Given the description of an element on the screen output the (x, y) to click on. 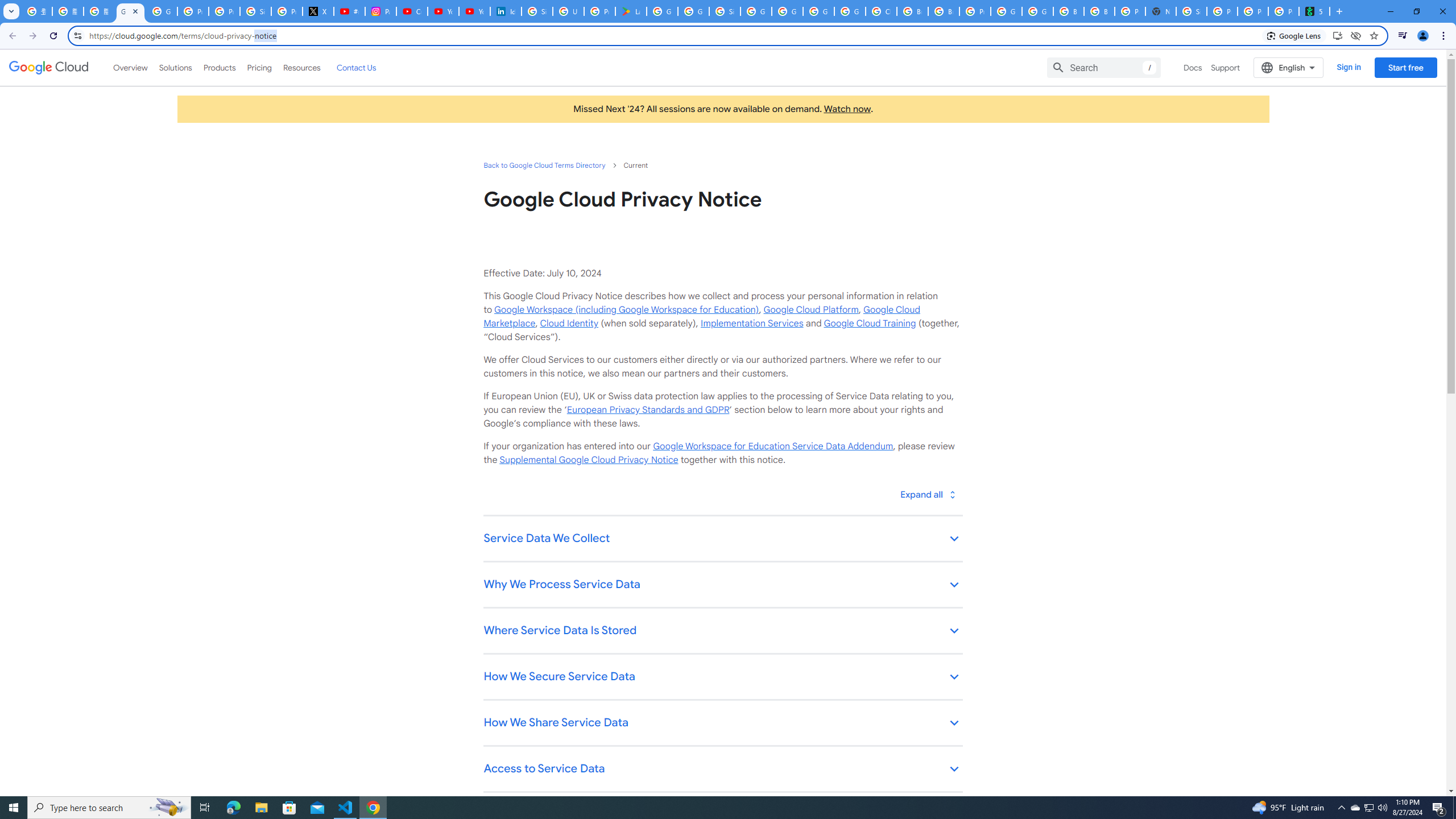
Install Google Cloud (1336, 35)
Google Cloud Platform (1037, 11)
Products (218, 67)
Docs (1192, 67)
Google Cloud Training (869, 323)
Sign in - Google Accounts (536, 11)
Last Shelter: Survival - Apps on Google Play (631, 11)
Cloud Identity (569, 323)
Google Cloud Platform (810, 309)
